Given the description of an element on the screen output the (x, y) to click on. 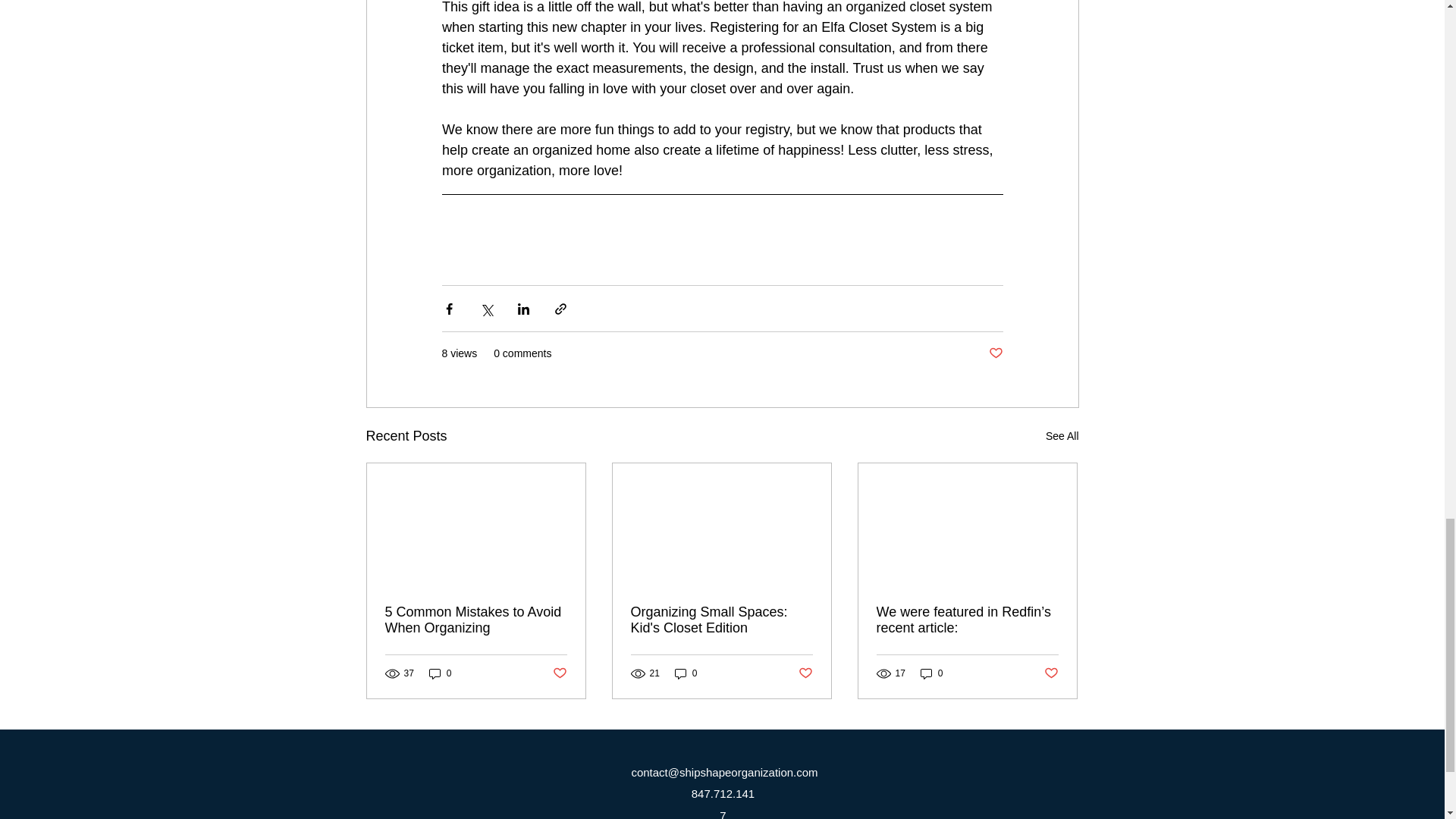
0 (685, 673)
0 (440, 673)
Organizing Small Spaces: Kid's Closet Edition (721, 620)
Post not marked as liked (558, 673)
See All (1061, 436)
0 (931, 673)
Post not marked as liked (1050, 673)
Post not marked as liked (995, 353)
5 Common Mistakes to Avoid When Organizing (476, 620)
Post not marked as liked (804, 673)
